Given the description of an element on the screen output the (x, y) to click on. 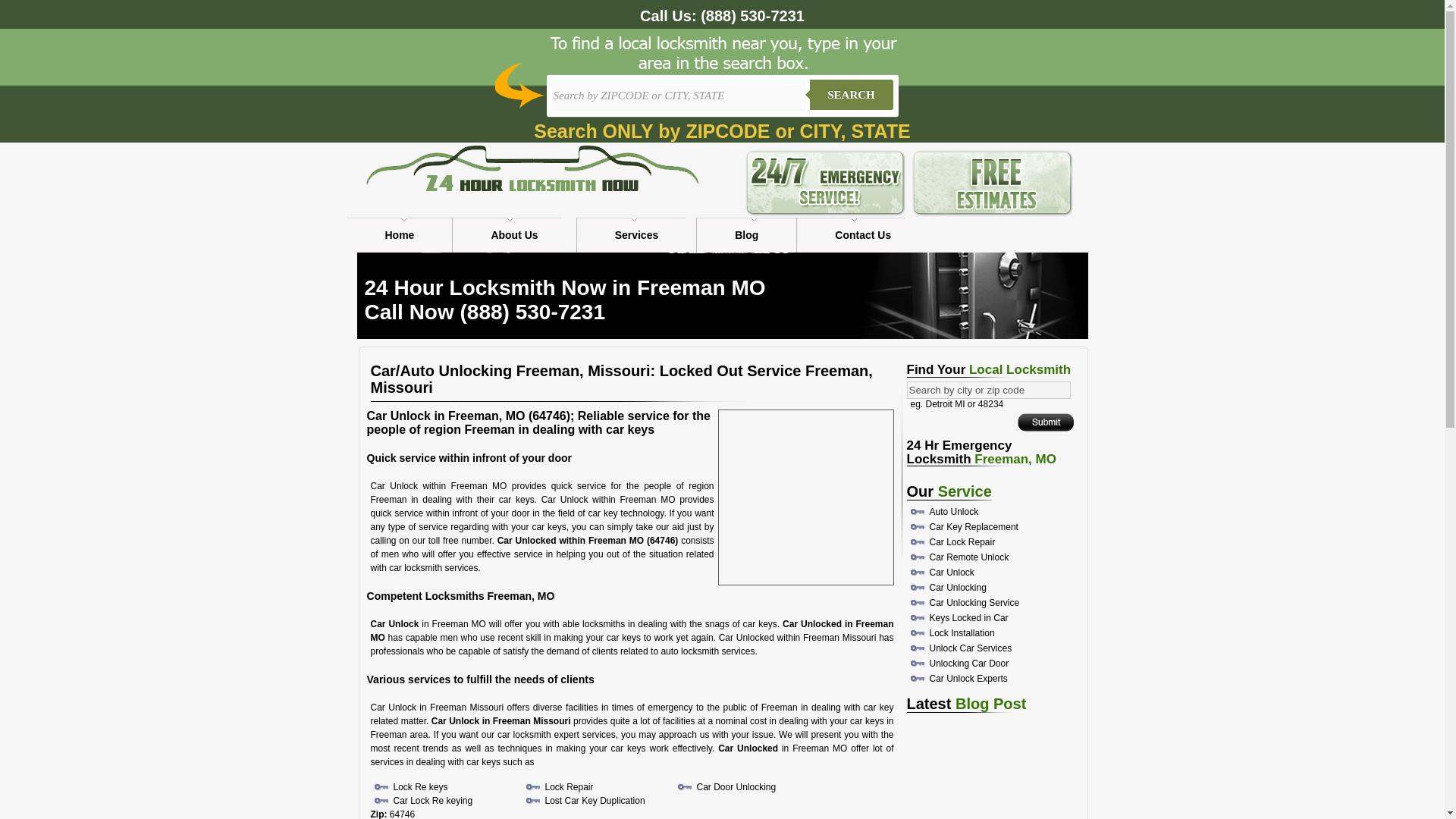
Services (636, 234)
Home (399, 234)
Contact Us (862, 234)
SEARCH (851, 94)
Search by city or zip code (988, 389)
Search by city or zip code (988, 389)
Blog (746, 234)
About Us (514, 234)
